Given the description of an element on the screen output the (x, y) to click on. 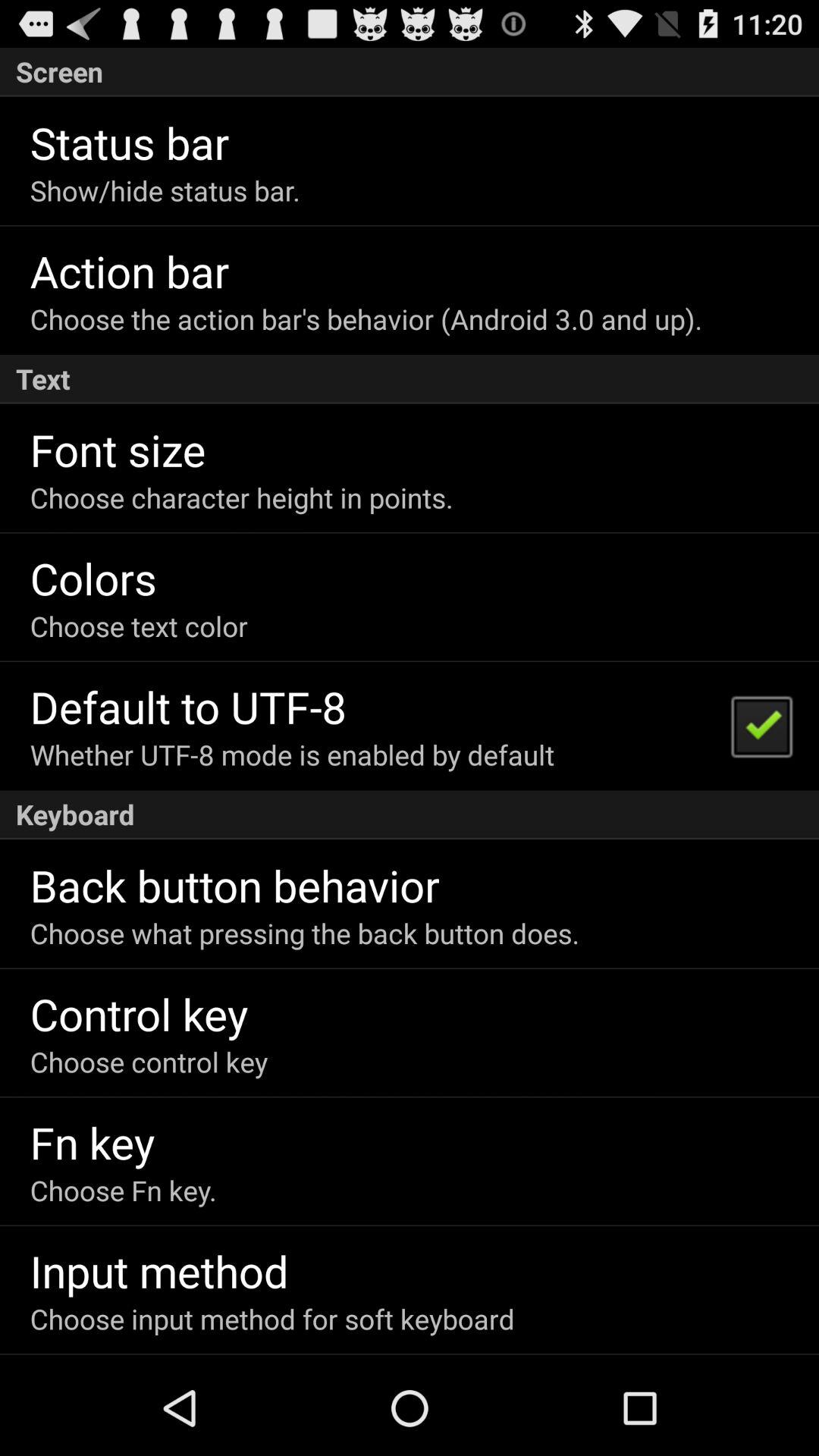
open the choose what pressing icon (304, 933)
